Given the description of an element on the screen output the (x, y) to click on. 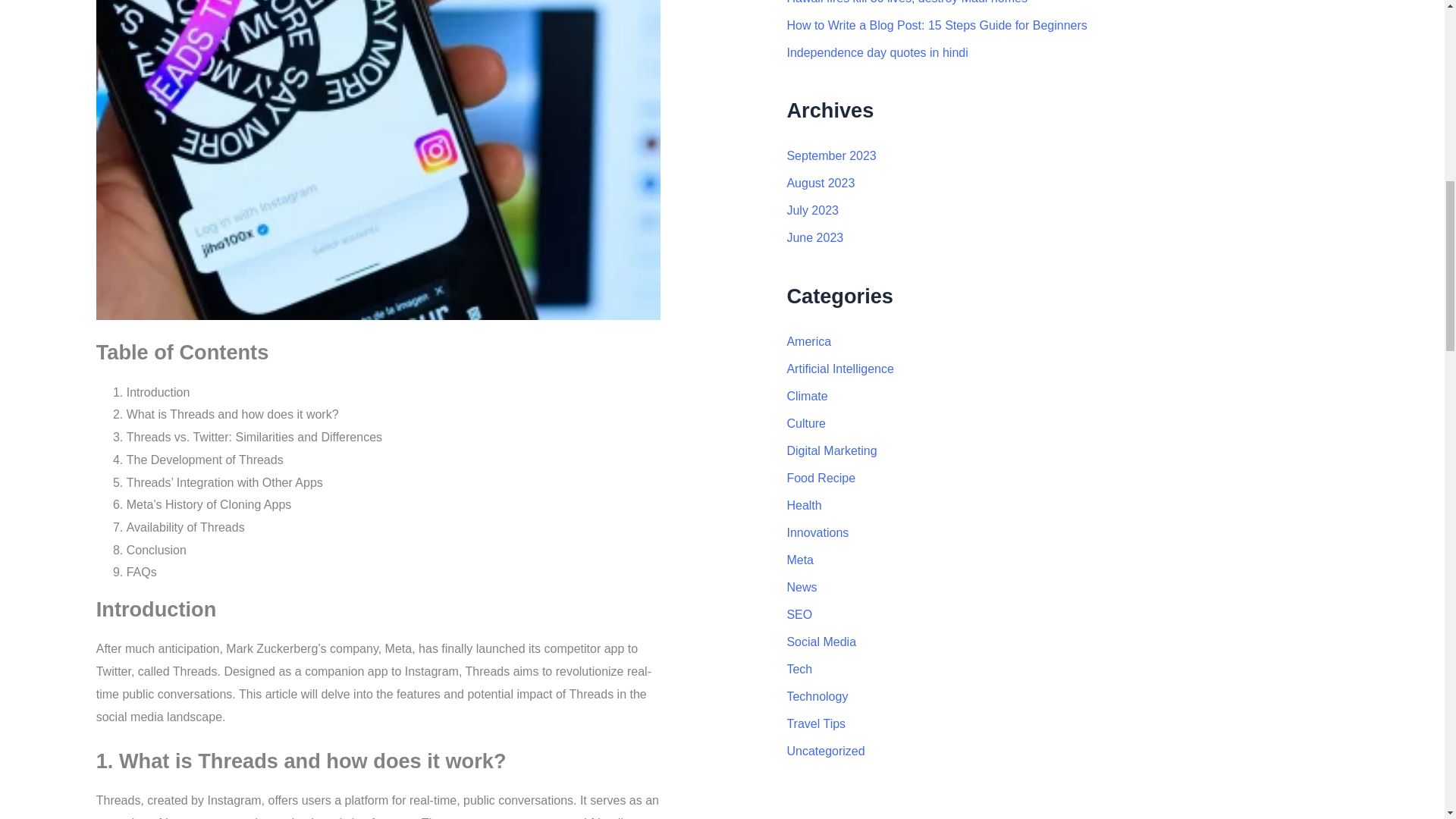
How to Write a Blog Post: 15 Steps Guide for Beginners (936, 24)
News (801, 586)
Travel Tips (815, 723)
Artificial Intelligence (839, 368)
Digital Marketing (831, 450)
Innovations (817, 532)
Health (803, 504)
Uncategorized (825, 750)
America (808, 341)
June 2023 (814, 237)
